Given the description of an element on the screen output the (x, y) to click on. 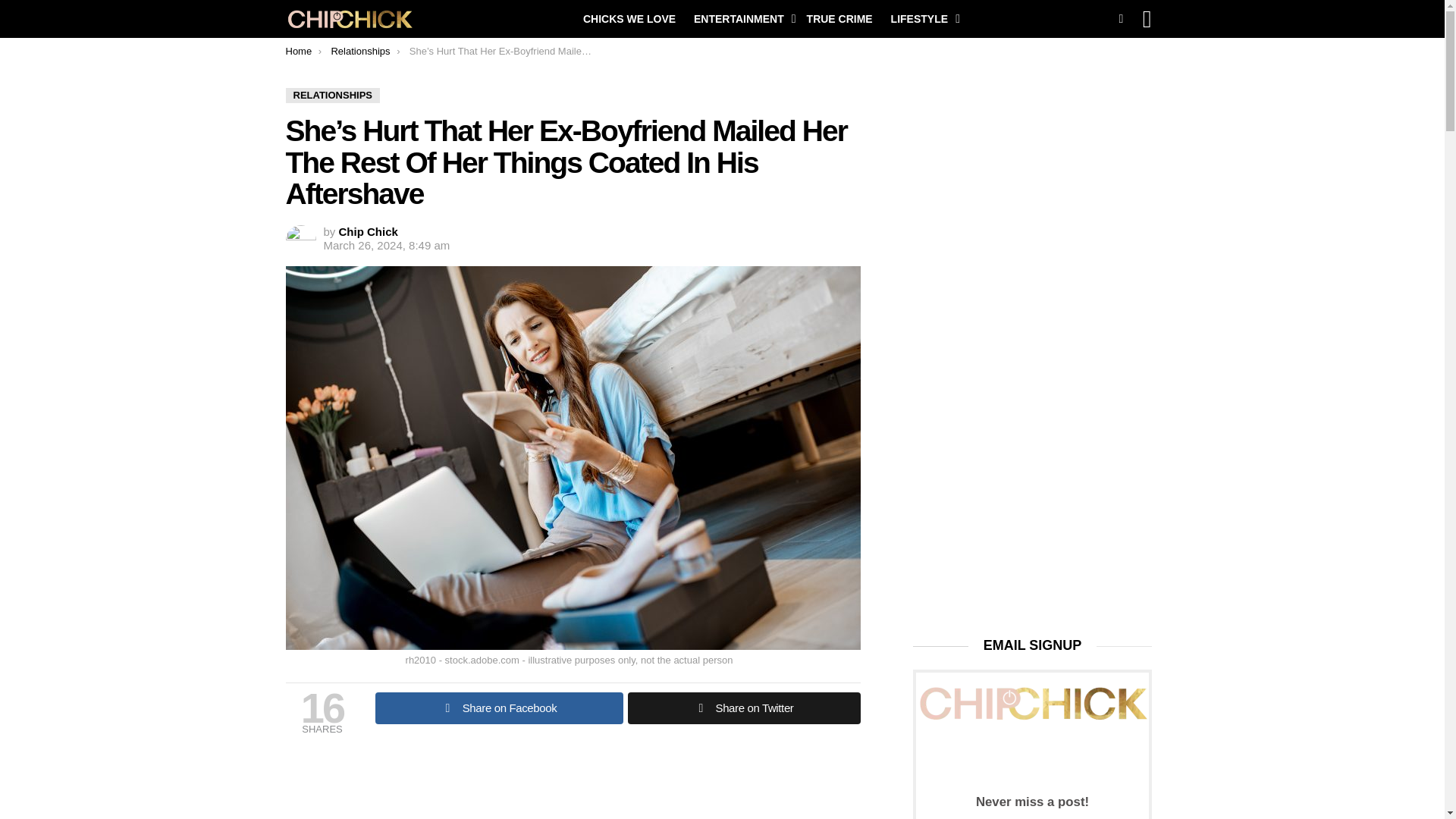
Relationships (360, 50)
CHICKS WE LOVE (628, 18)
Chip Chick (368, 231)
LIFESTYLE (921, 18)
Home (298, 50)
RELATIONSHIPS (332, 95)
Share on Twitter (743, 707)
Share on Facebook (498, 707)
Posts by Chip Chick (368, 231)
ENTERTAINMENT (740, 18)
